Given the description of an element on the screen output the (x, y) to click on. 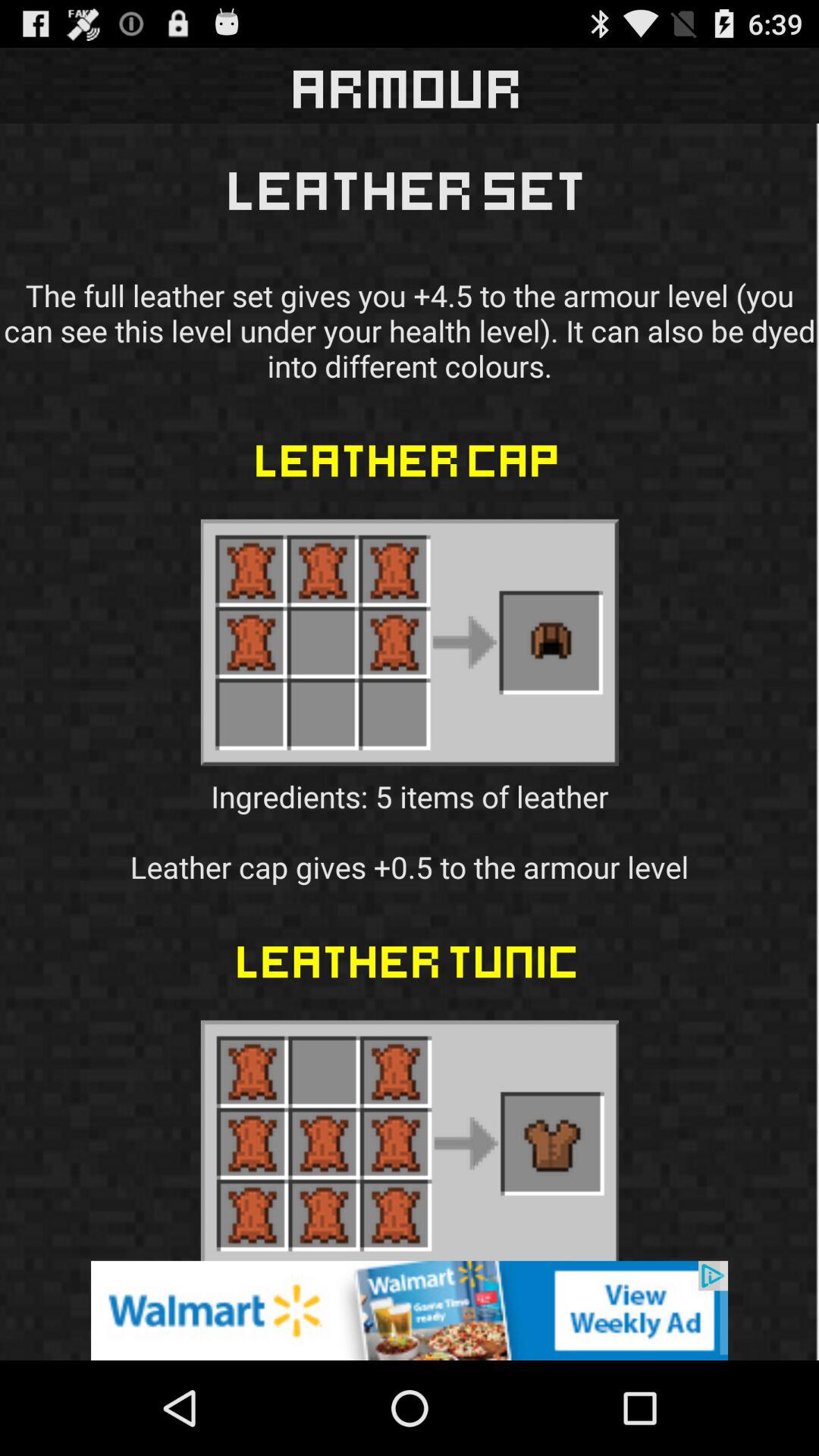
go to advertisement (409, 1310)
